Given the description of an element on the screen output the (x, y) to click on. 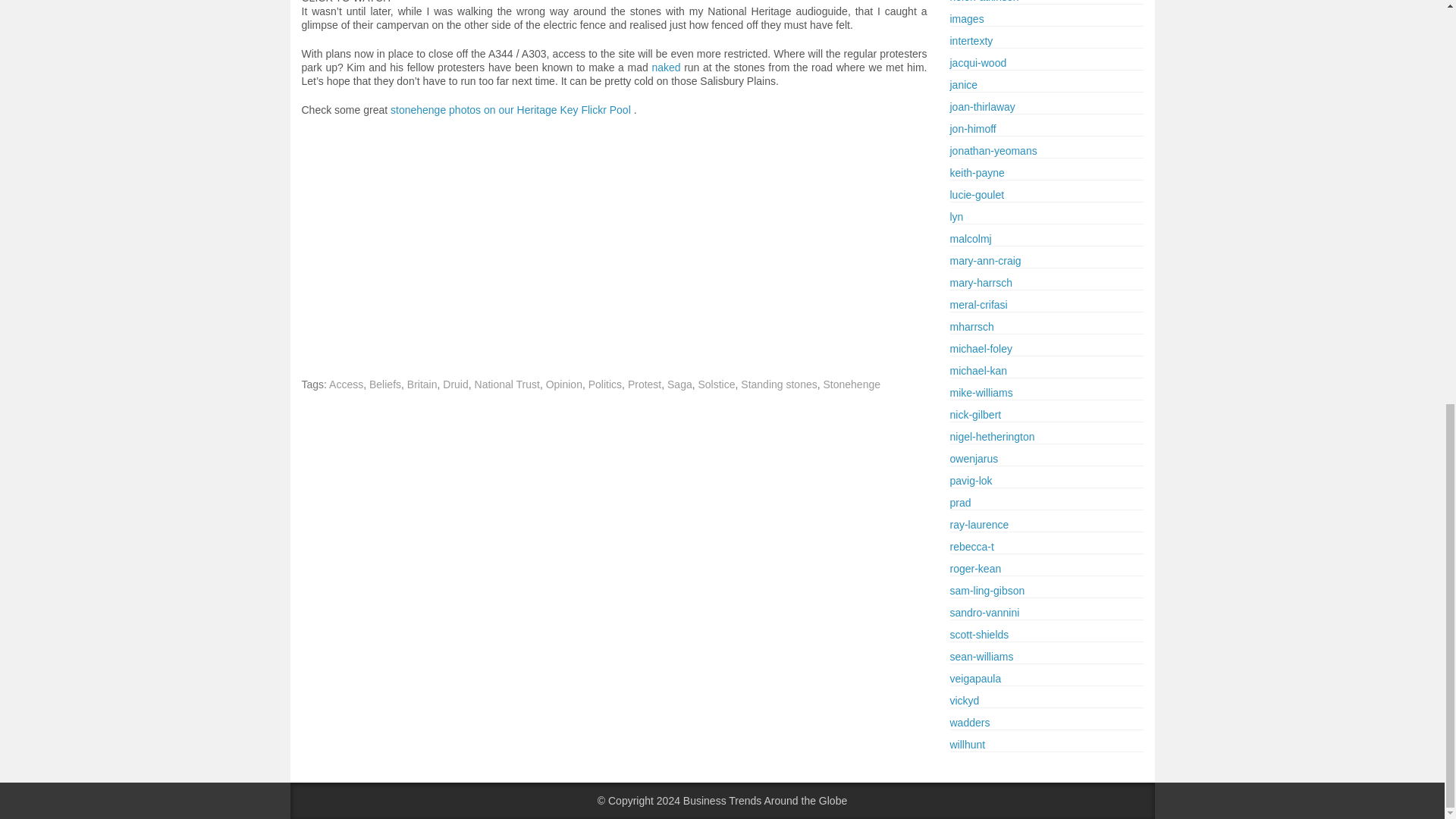
Opinion (564, 384)
Standing stones (778, 384)
Solstice (716, 384)
Protest (644, 384)
Beliefs (385, 384)
stonehenge photos on our Heritage Key Flickr Pool (510, 110)
Britain (422, 384)
Standing stones (778, 384)
Protest (644, 384)
Access (345, 384)
